Given the description of an element on the screen output the (x, y) to click on. 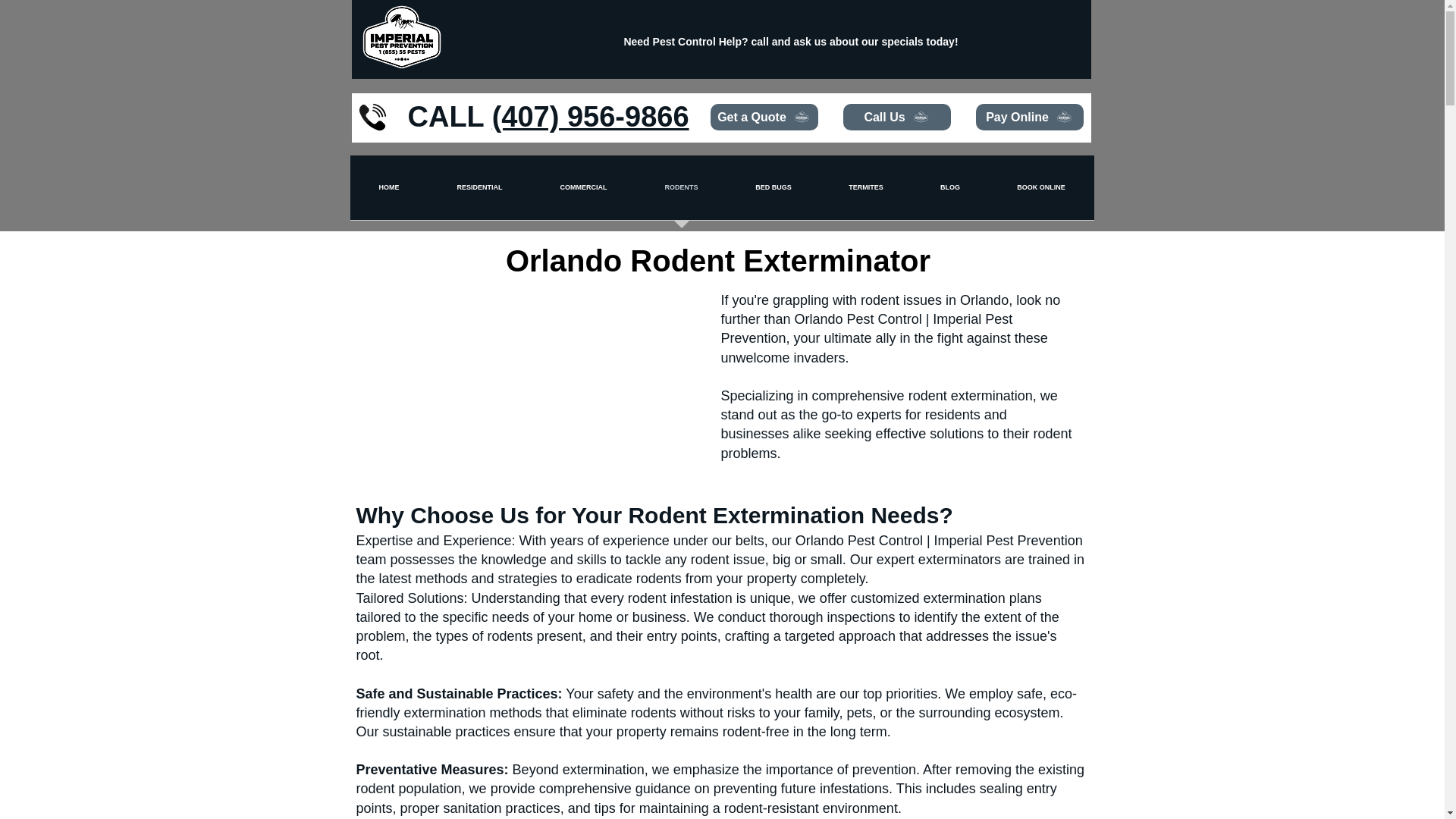
RESIDENTIAL (479, 192)
RODENTS (680, 192)
Get a Quote (763, 117)
TERMITES (866, 192)
COMMERCIAL (582, 192)
BED BUGS (772, 192)
HOME (389, 192)
Call Us (896, 117)
Pay Online (1029, 117)
